Given the description of an element on the screen output the (x, y) to click on. 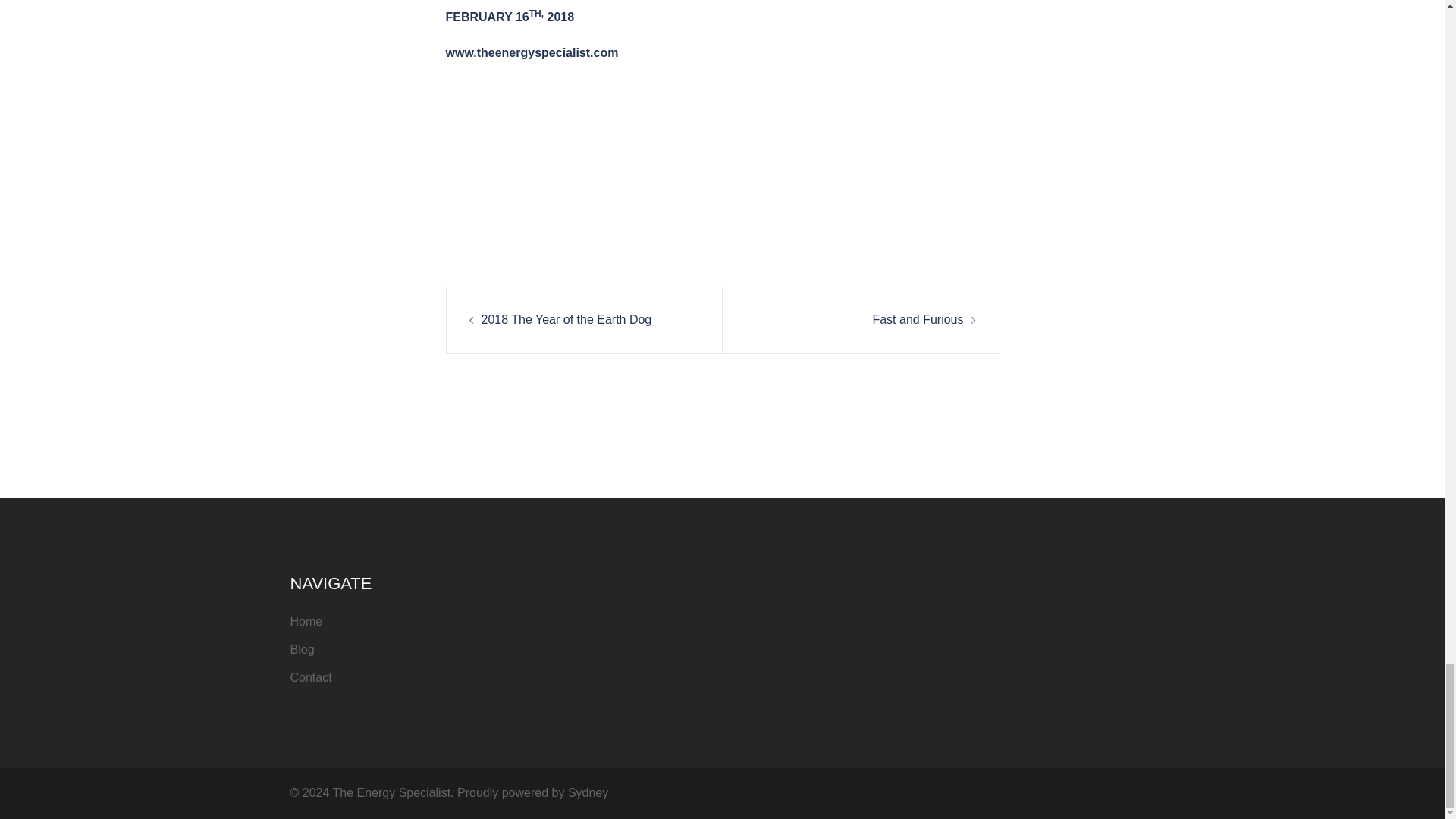
Home (305, 621)
Contact (310, 676)
2018 The Year of the Earth Dog (565, 318)
Blog (301, 649)
Sydney (587, 792)
Fast and Furious (917, 318)
